Given the description of an element on the screen output the (x, y) to click on. 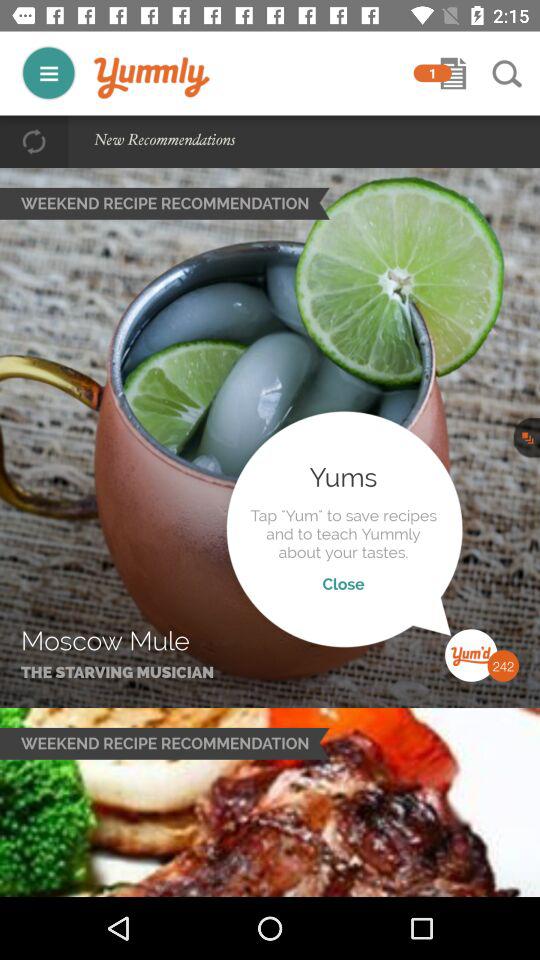
open shopping list (453, 73)
